Given the description of an element on the screen output the (x, y) to click on. 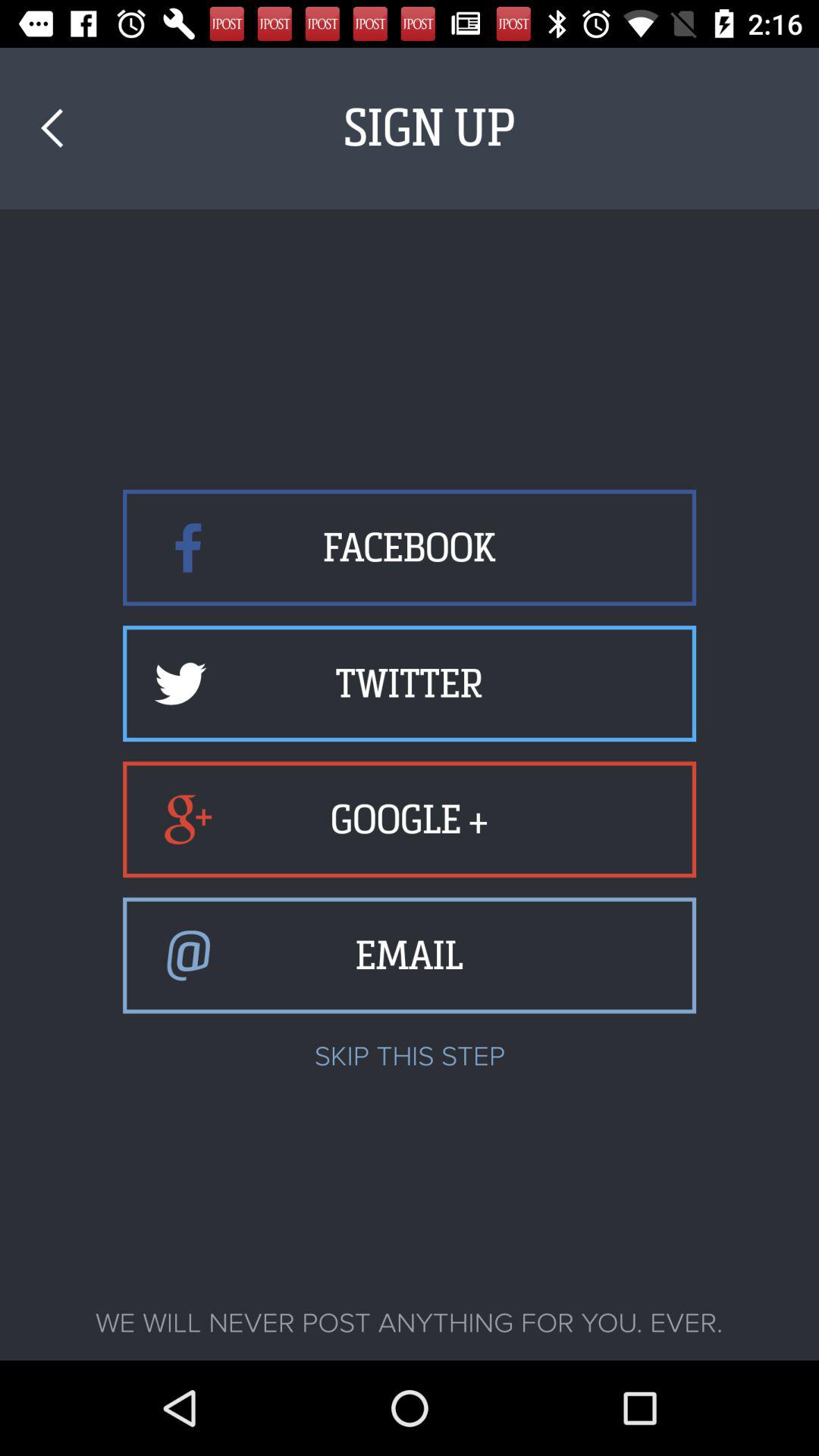
flip until the skip this step item (409, 1056)
